Given the description of an element on the screen output the (x, y) to click on. 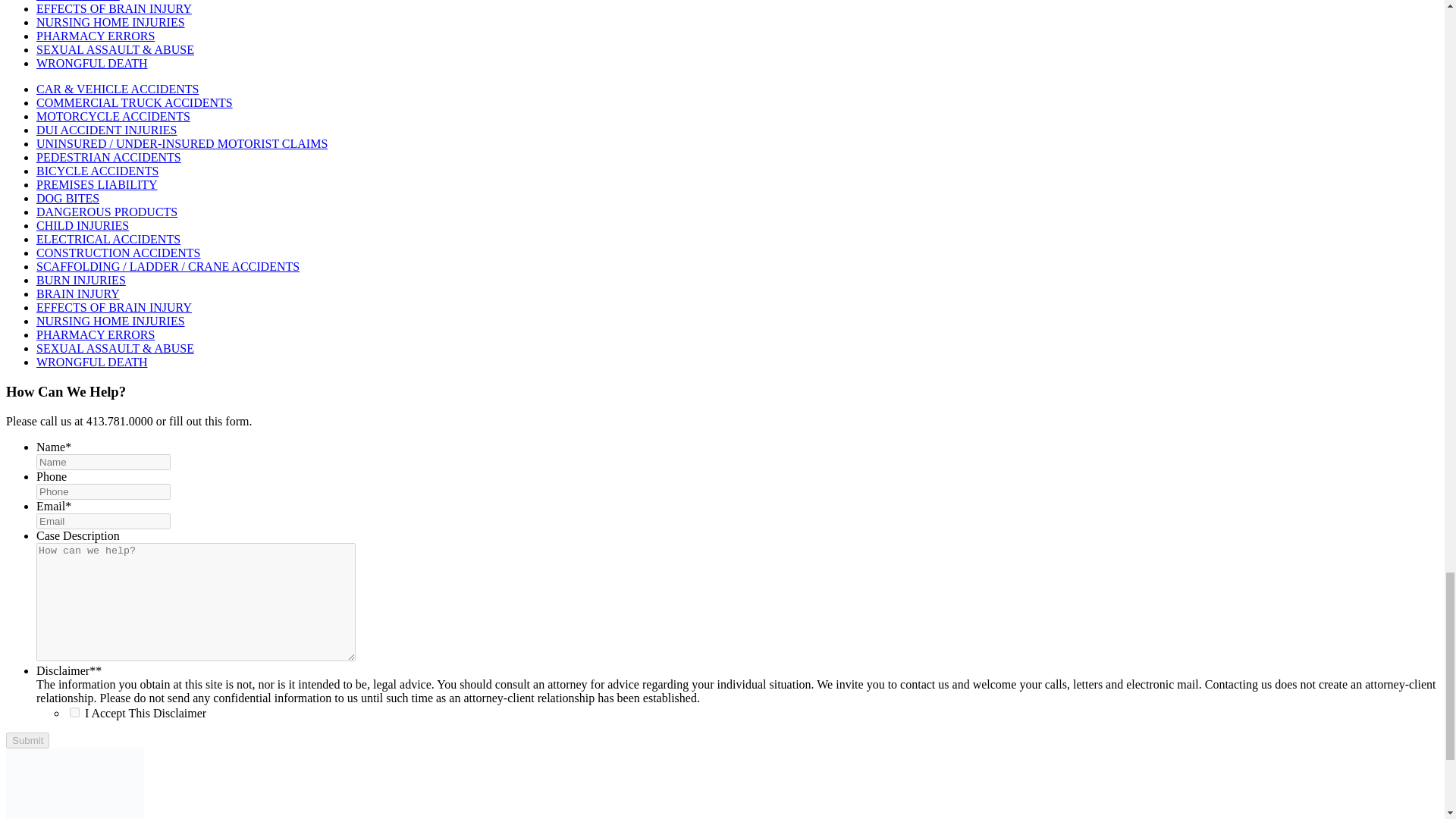
Submit (27, 740)
I Accept This Disclaimer (74, 712)
